Given the description of an element on the screen output the (x, y) to click on. 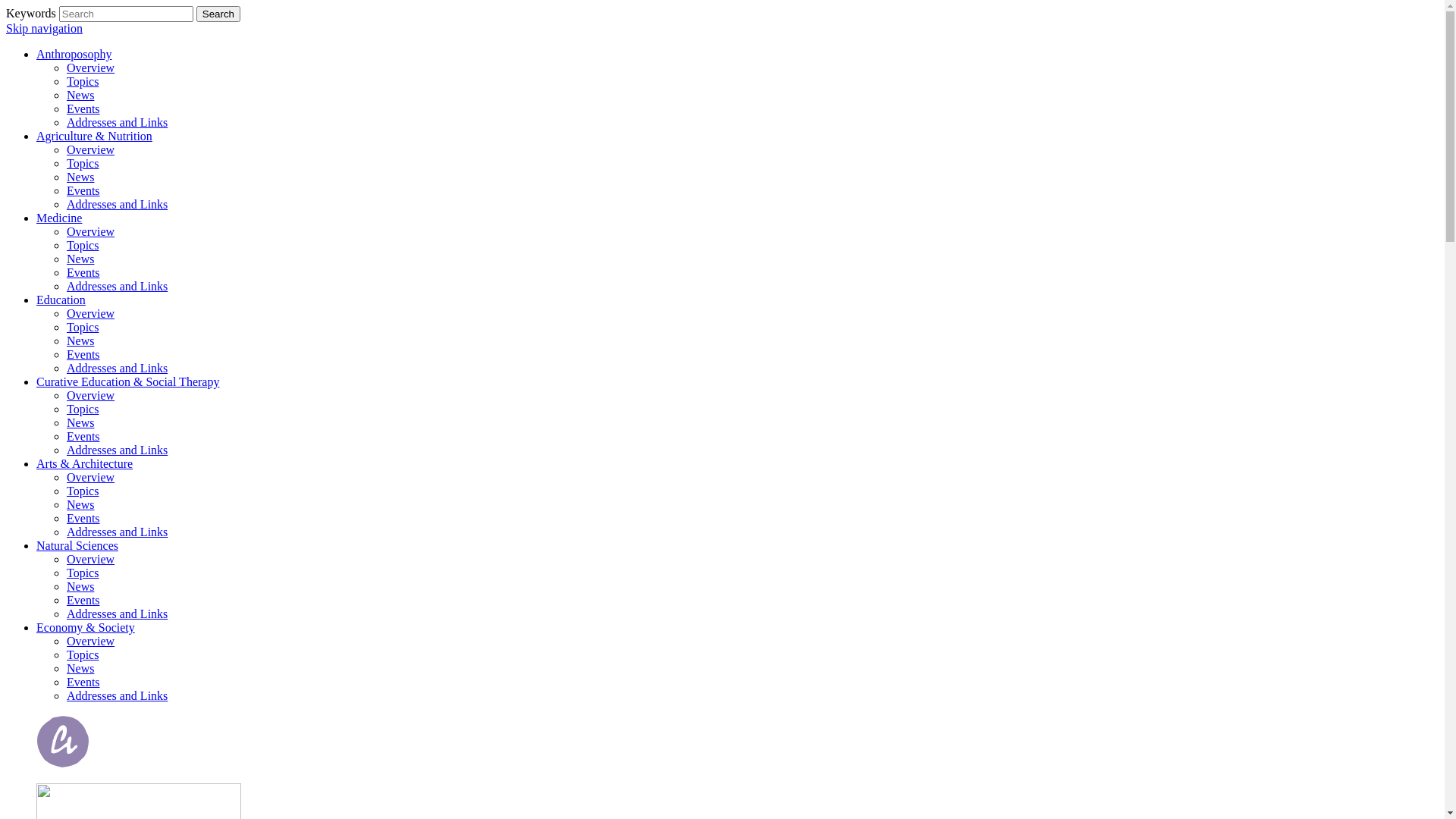
Overview Element type: text (90, 231)
Events Element type: text (83, 681)
Overview Element type: text (90, 640)
Overview Element type: text (90, 149)
Topics Element type: text (82, 162)
Events Element type: text (83, 190)
Addresses and Links Element type: text (116, 203)
Events Element type: text (83, 435)
Overview Element type: text (90, 67)
Overview Element type: text (90, 558)
Economy & Society Element type: text (85, 627)
Topics Element type: text (82, 326)
Education Element type: text (60, 299)
News Element type: text (80, 176)
News Element type: text (80, 504)
Events Element type: text (83, 354)
News Element type: text (80, 94)
Addresses and Links Element type: text (116, 367)
News Element type: text (80, 668)
Events Element type: text (83, 108)
News Element type: text (80, 340)
Topics Element type: text (82, 244)
Topics Element type: text (82, 408)
Search Element type: text (218, 13)
Addresses and Links Element type: text (116, 695)
Overview Element type: text (90, 313)
Topics Element type: text (82, 490)
Addresses and Links Element type: text (116, 531)
Anthroposophy Element type: text (74, 53)
News Element type: text (80, 422)
Events Element type: text (83, 517)
Addresses and Links Element type: text (116, 613)
Medicine Element type: text (58, 217)
Topics Element type: text (82, 572)
Events Element type: text (83, 599)
Addresses and Links Element type: text (116, 449)
Natural Sciences Element type: text (77, 545)
Agriculture & Nutrition Element type: text (94, 135)
Overview Element type: text (90, 476)
Topics Element type: text (82, 81)
Skip navigation Element type: text (44, 27)
Addresses and Links Element type: text (116, 122)
News Element type: text (80, 586)
Arts & Architecture Element type: text (84, 463)
Addresses and Links Element type: text (116, 285)
Topics Element type: text (82, 654)
Events Element type: text (83, 272)
News Element type: text (80, 258)
Overview Element type: text (90, 395)
Curative Education & Social Therapy Element type: text (127, 381)
